Given the description of an element on the screen output the (x, y) to click on. 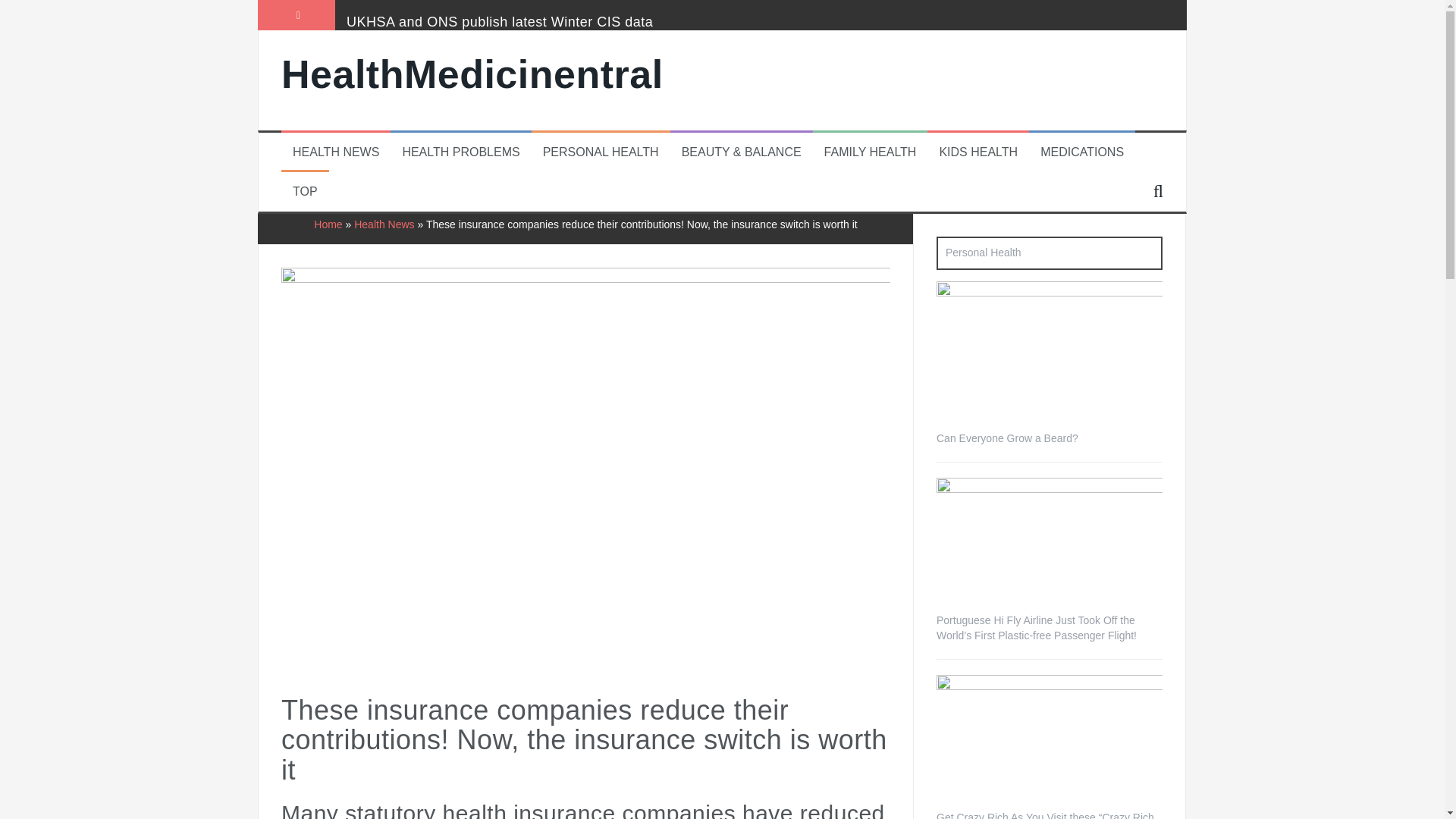
KIDS HEALTH (978, 152)
FAMILY HEALTH (870, 152)
MEDICATIONS (1082, 152)
Can Everyone Grow a Beard? (1048, 356)
PERSONAL HEALTH (601, 152)
Health News (383, 224)
UKHSA and ONS publish latest Winter CIS data (499, 21)
Can Everyone Grow a Beard? (1007, 438)
TOP (304, 191)
Home (328, 224)
HEALTH PROBLEMS (460, 152)
HealthMedicinentral (472, 74)
Can Everyone Grow a Beard? (1048, 355)
HEALTH NEWS (335, 152)
